Given the description of an element on the screen output the (x, y) to click on. 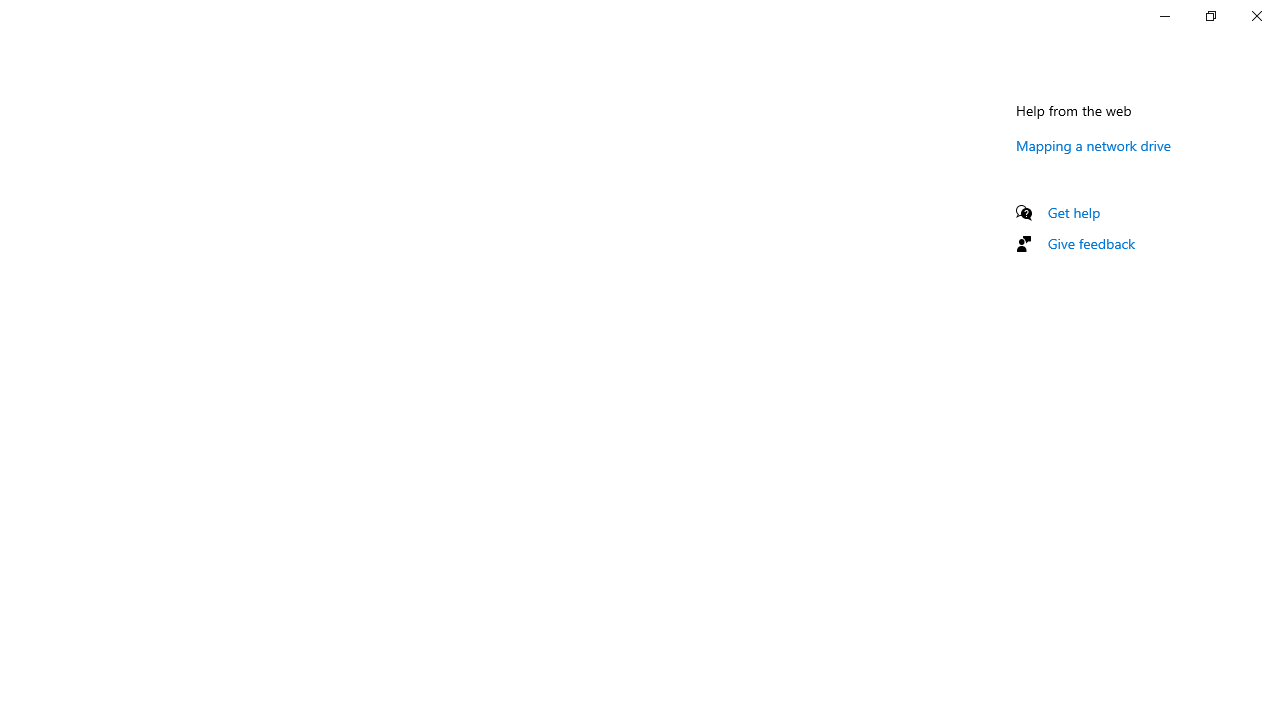
Mapping a network drive (1094, 145)
